Given the description of an element on the screen output the (x, y) to click on. 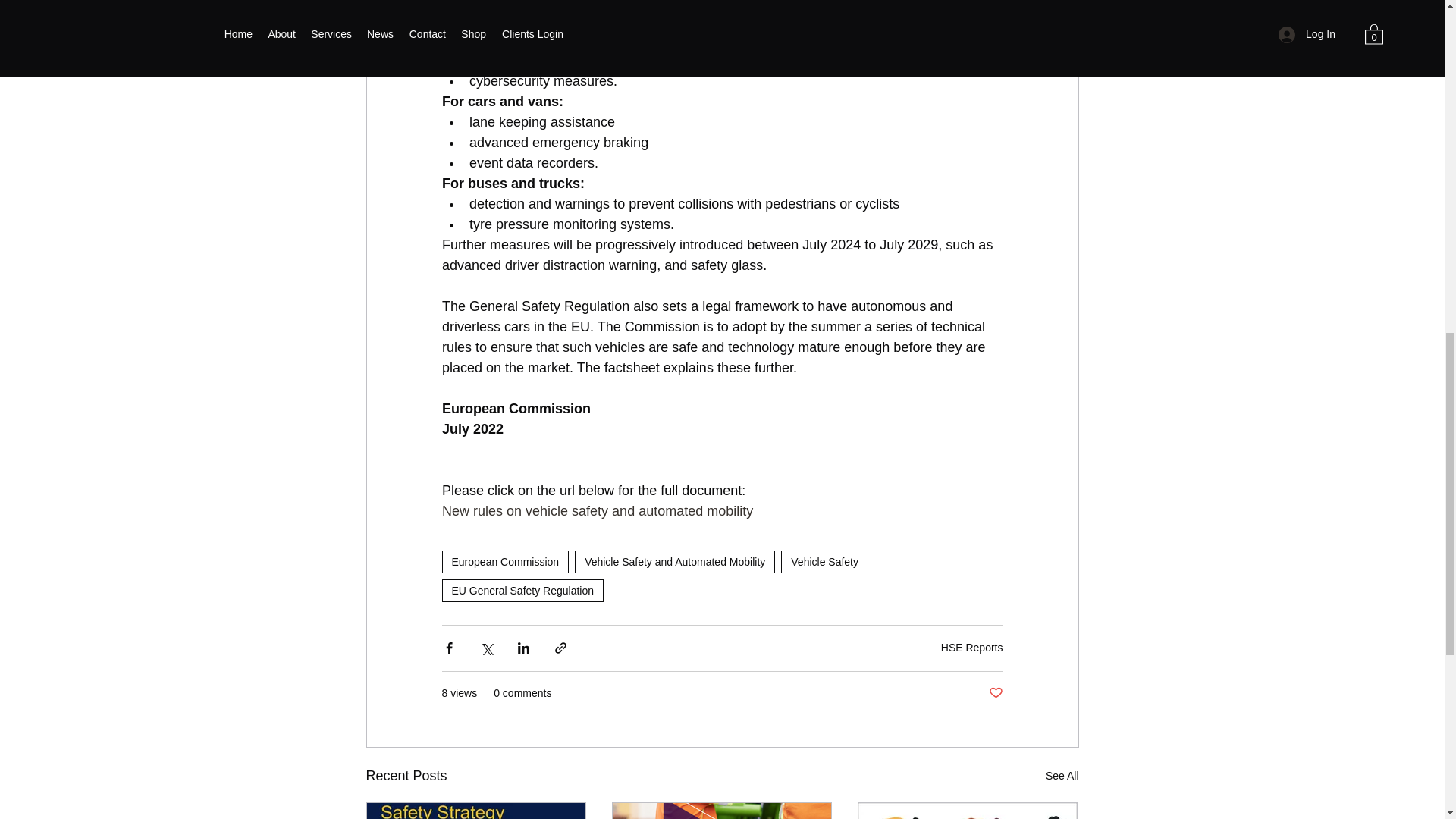
EU General Safety Regulation (522, 590)
HSE Reports (971, 647)
See All (1061, 775)
Vehicle Safety and Automated Mobility (674, 561)
Vehicle Safety (823, 561)
New rules on vehicle safety and automated mobility (596, 510)
Post not marked as liked (995, 693)
European Commission (505, 561)
